Given the description of an element on the screen output the (x, y) to click on. 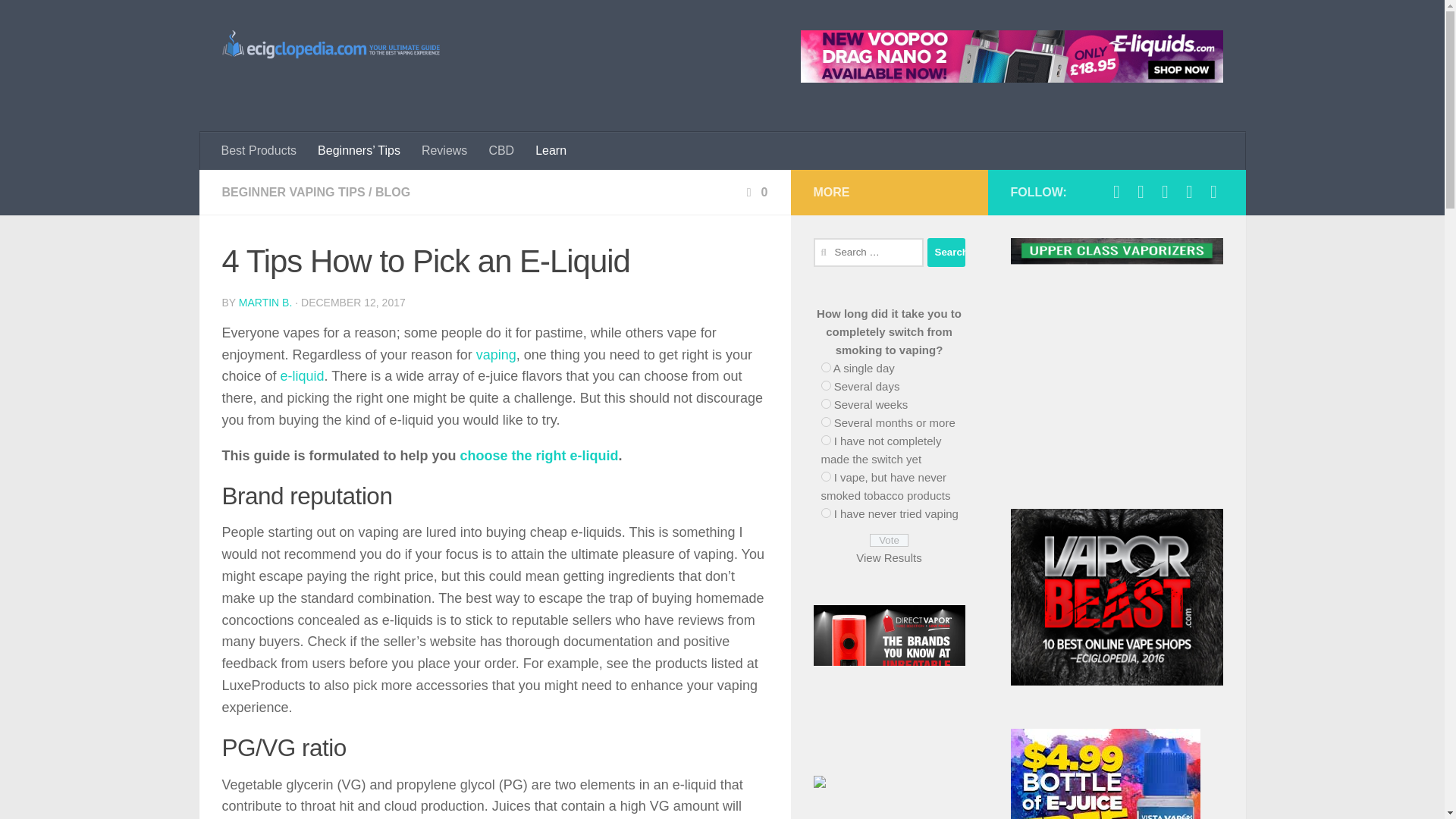
45 (825, 385)
Google Plus (1164, 191)
   Vote    (888, 540)
BLOG (392, 192)
Twitter (1140, 191)
BEGINNER VAPING TIPS (293, 192)
48 (825, 439)
Reviews (443, 150)
Tumblr (1213, 191)
Skip to content (63, 20)
